Given the description of an element on the screen output the (x, y) to click on. 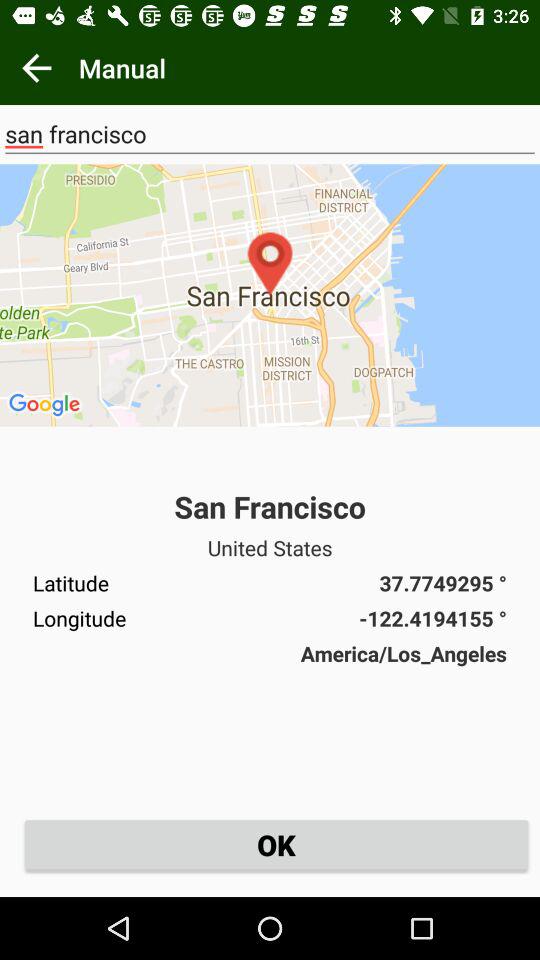
swipe until ok item (276, 844)
